Given the description of an element on the screen output the (x, y) to click on. 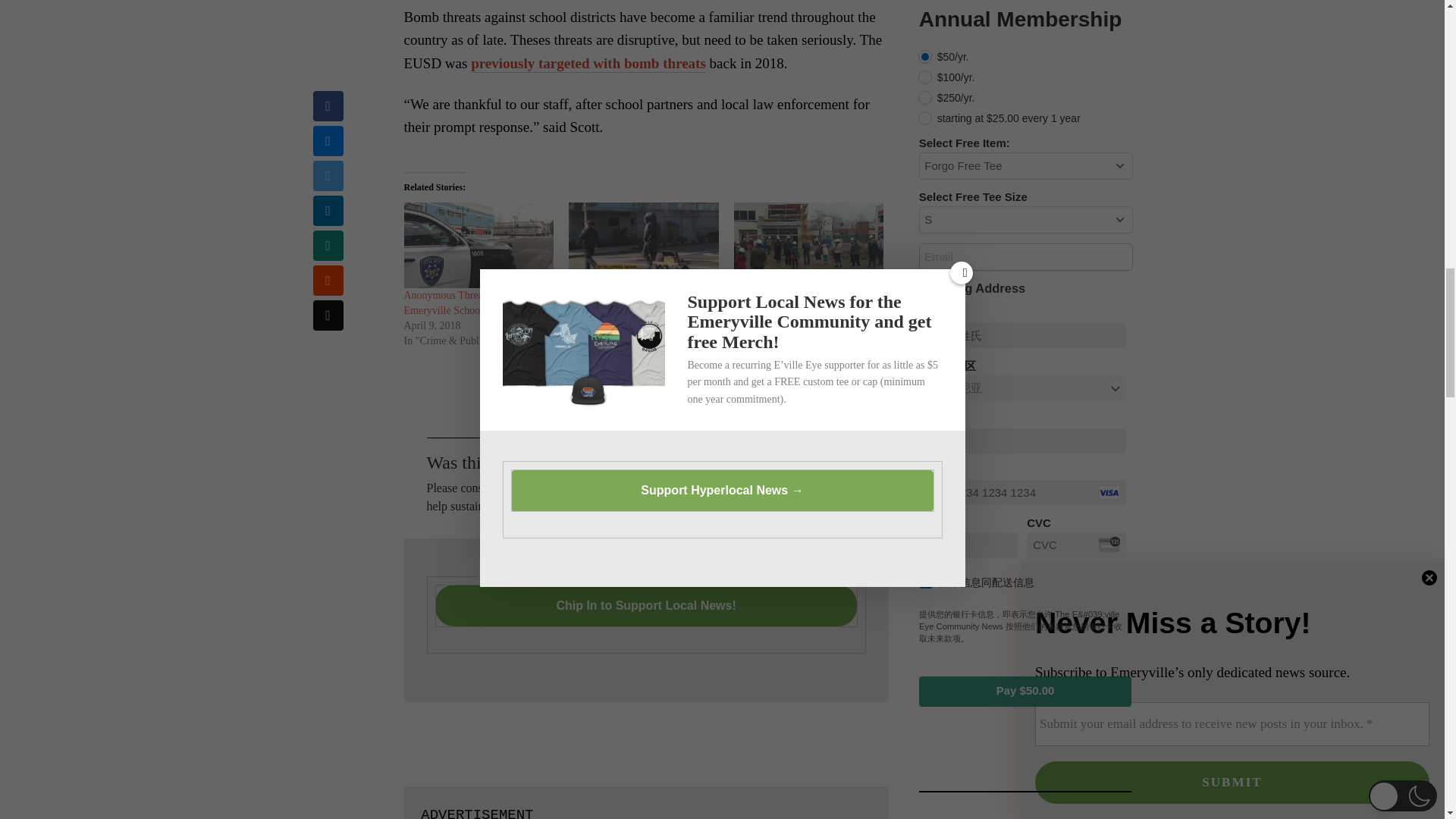
Anonymous Threats Shut Down Emeryville Schools (471, 302)
EmeryStation evacuated after Bomb threat (644, 245)
make-a-recurring-annual-payment-1515781151 (924, 56)
previously targeted with bomb threats (588, 62)
EUSD hosts ECCL Tour, Special Meeting for Parents (804, 302)
EUSD hosts ECCL Tour, Special Meeting for Parents (808, 245)
EmeryStation evacuated after Bomb threat (631, 302)
Anonymous Threats Shut Down Emeryville Schools (478, 245)
